Given the description of an element on the screen output the (x, y) to click on. 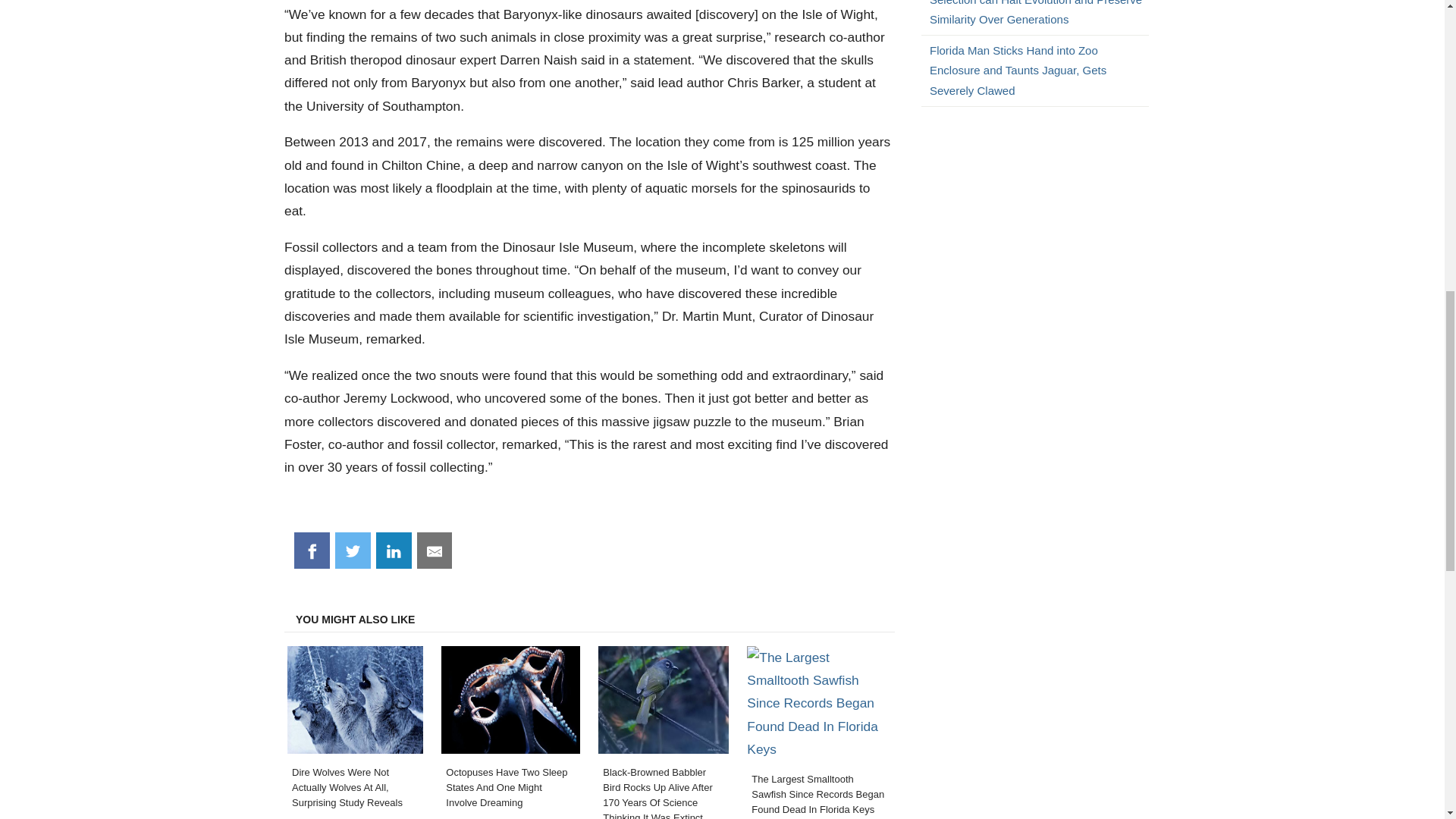
Share on LinkedIn (393, 550)
Share on Facebook (312, 550)
Tweet this ! (352, 550)
Share on Email (434, 550)
